Given the description of an element on the screen output the (x, y) to click on. 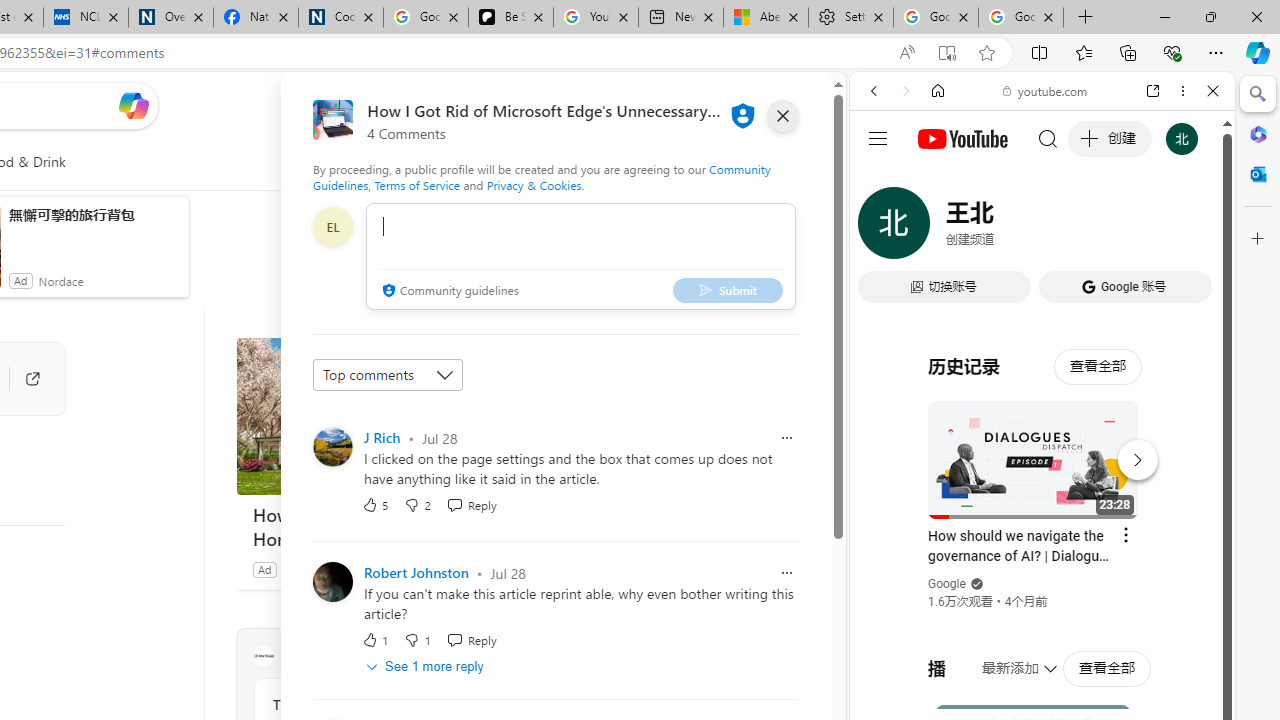
Open Copilot (132, 105)
New Tab (1085, 17)
SEARCH TOOLS (1093, 228)
Google (1042, 494)
1 Like (375, 639)
Ad (264, 569)
How To Borrow From Your Home Without Touching Your Mortgage (386, 416)
Open link in new tab (1153, 91)
Microsoft 365 (1258, 133)
Back (874, 91)
Restore (1210, 16)
Personalize (488, 162)
5 Like (375, 504)
